Given the description of an element on the screen output the (x, y) to click on. 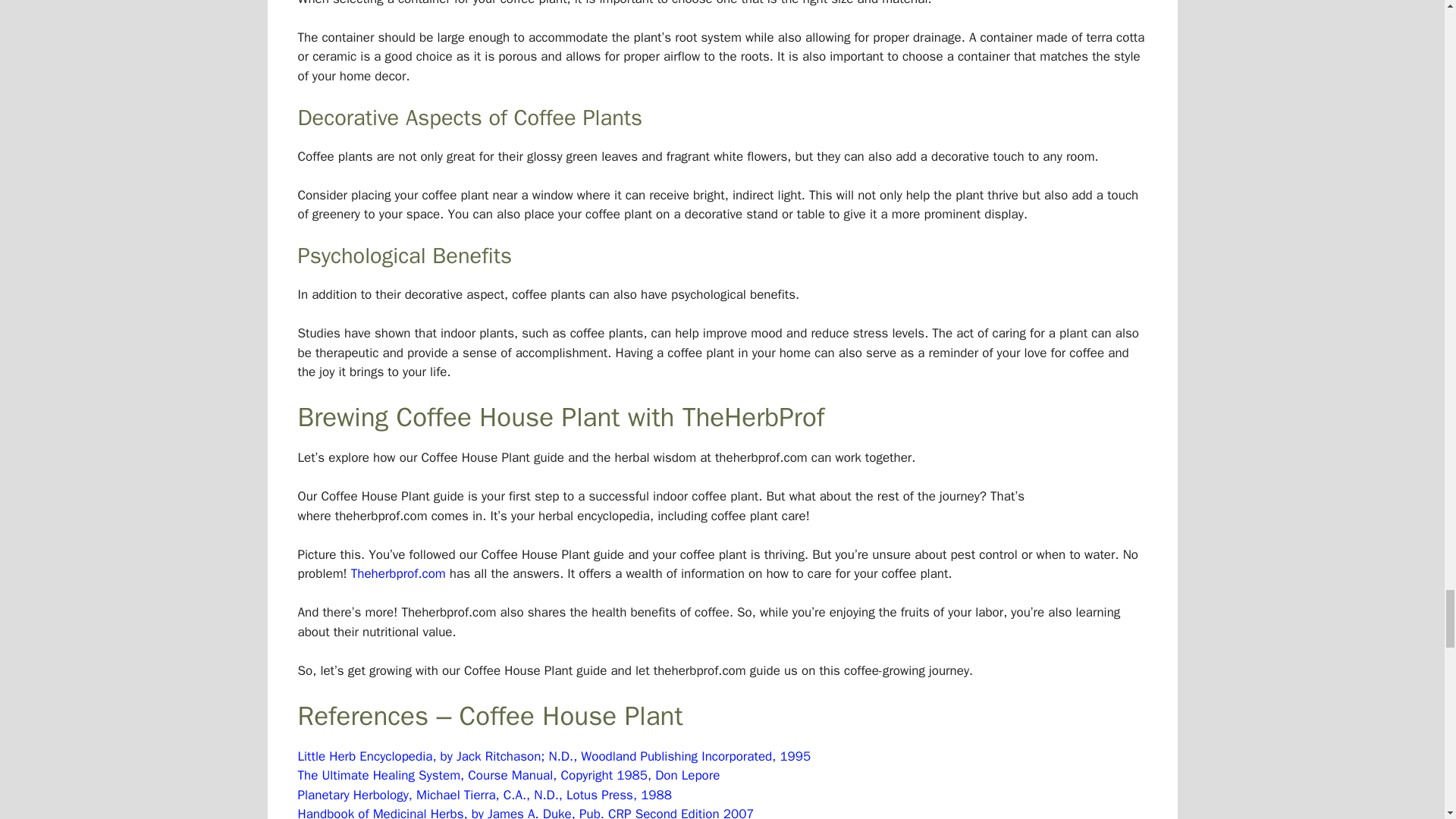
Theherbprof.com (397, 573)
